Given the description of an element on the screen output the (x, y) to click on. 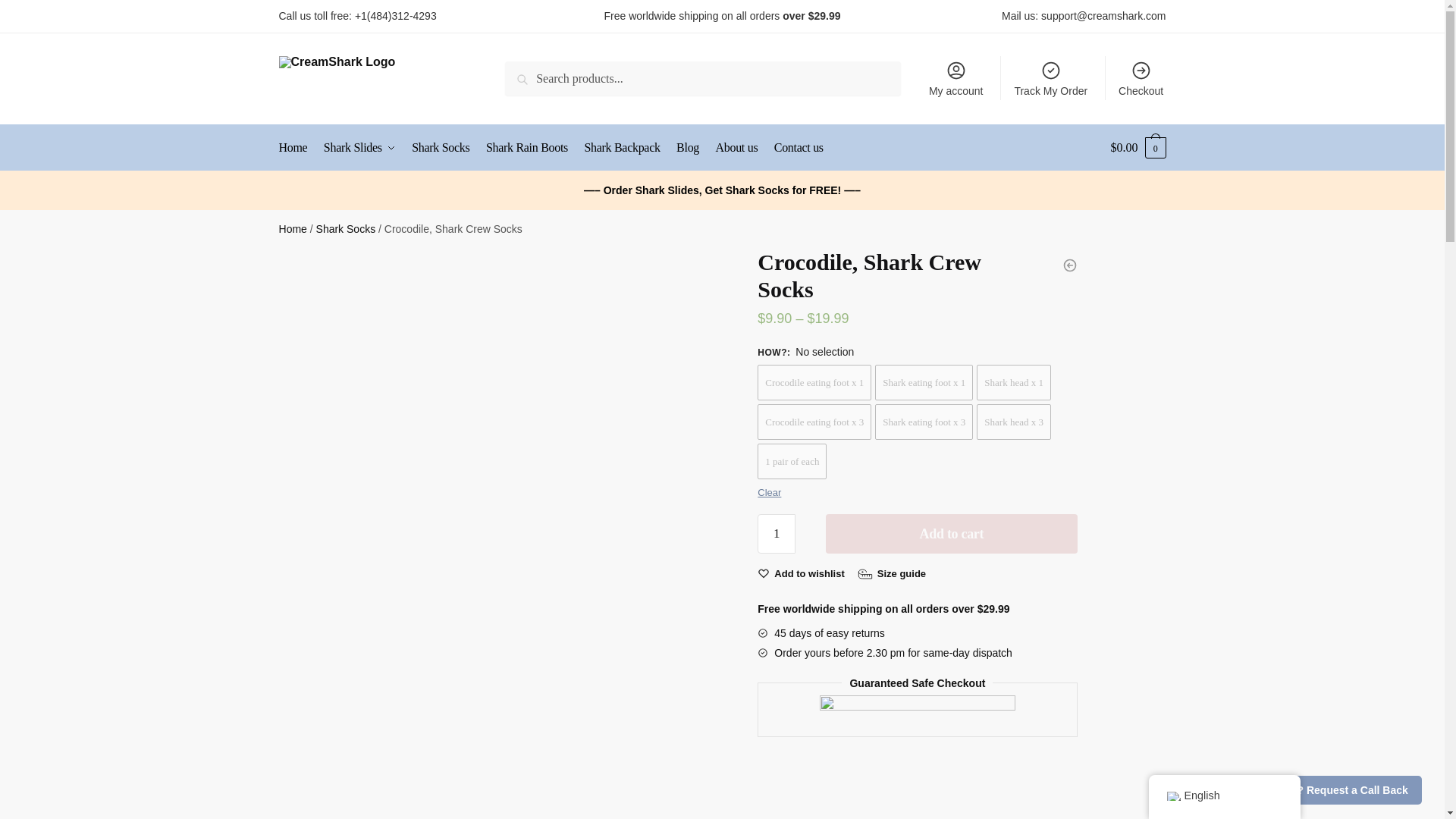
Shark Socks (441, 147)
My account (956, 77)
View your shopping cart (1137, 147)
About us (735, 147)
Shark Rain Boots (526, 147)
Shark Slides (359, 147)
Checkout (1141, 77)
1 (775, 533)
Shark Backpack (621, 147)
Track My Order (1050, 77)
Shark Socks (345, 228)
Home (293, 228)
Search (540, 78)
Contact us (798, 147)
